Given the description of an element on the screen output the (x, y) to click on. 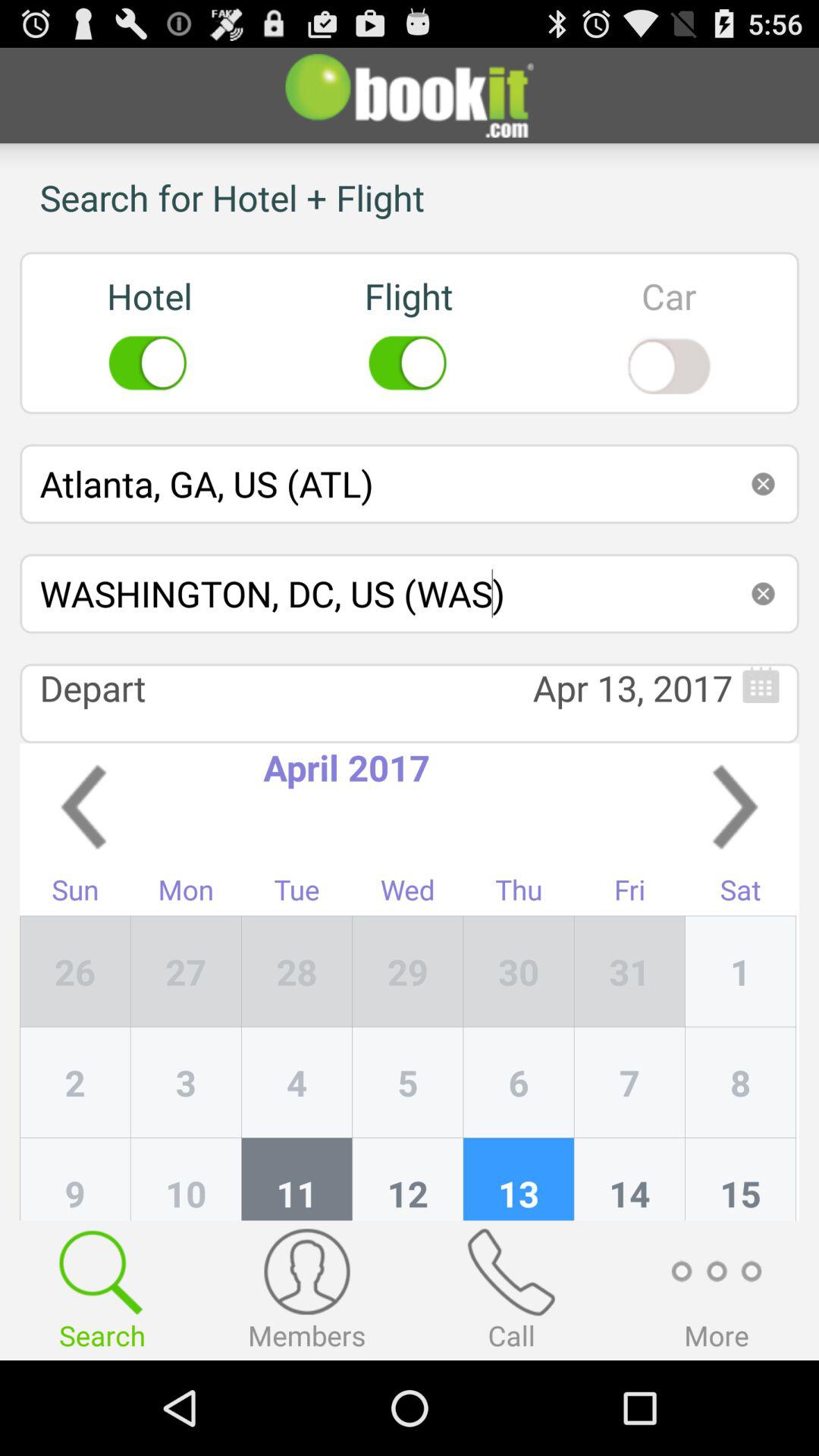
turn on item below 28 item (407, 1082)
